Given the description of an element on the screen output the (x, y) to click on. 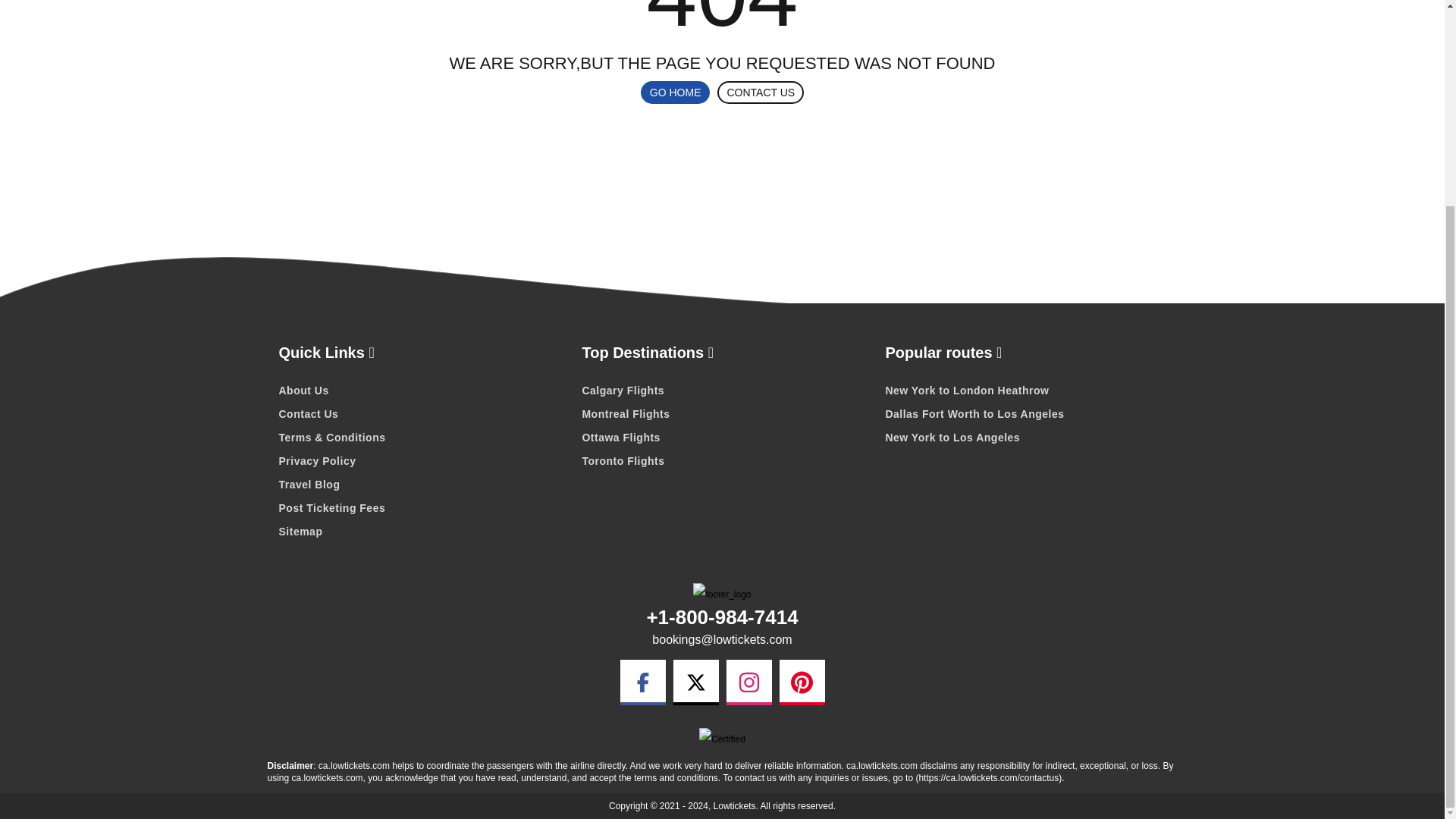
Calgary Flights (720, 390)
Toronto Flights (720, 460)
Montreal Flights (720, 413)
GO HOME (675, 92)
Ottawa Flights (720, 436)
Contact Us (419, 413)
New York to London Heathrow (1025, 390)
Privacy Policy (419, 460)
Dallas Fort Worth to Los Angeles (1025, 413)
Travel Blog (419, 484)
About Us (419, 390)
Post Ticketing Fees (419, 507)
New York to Los Angeles (1025, 436)
Sitemap (419, 531)
CONTACT US (760, 92)
